Given the description of an element on the screen output the (x, y) to click on. 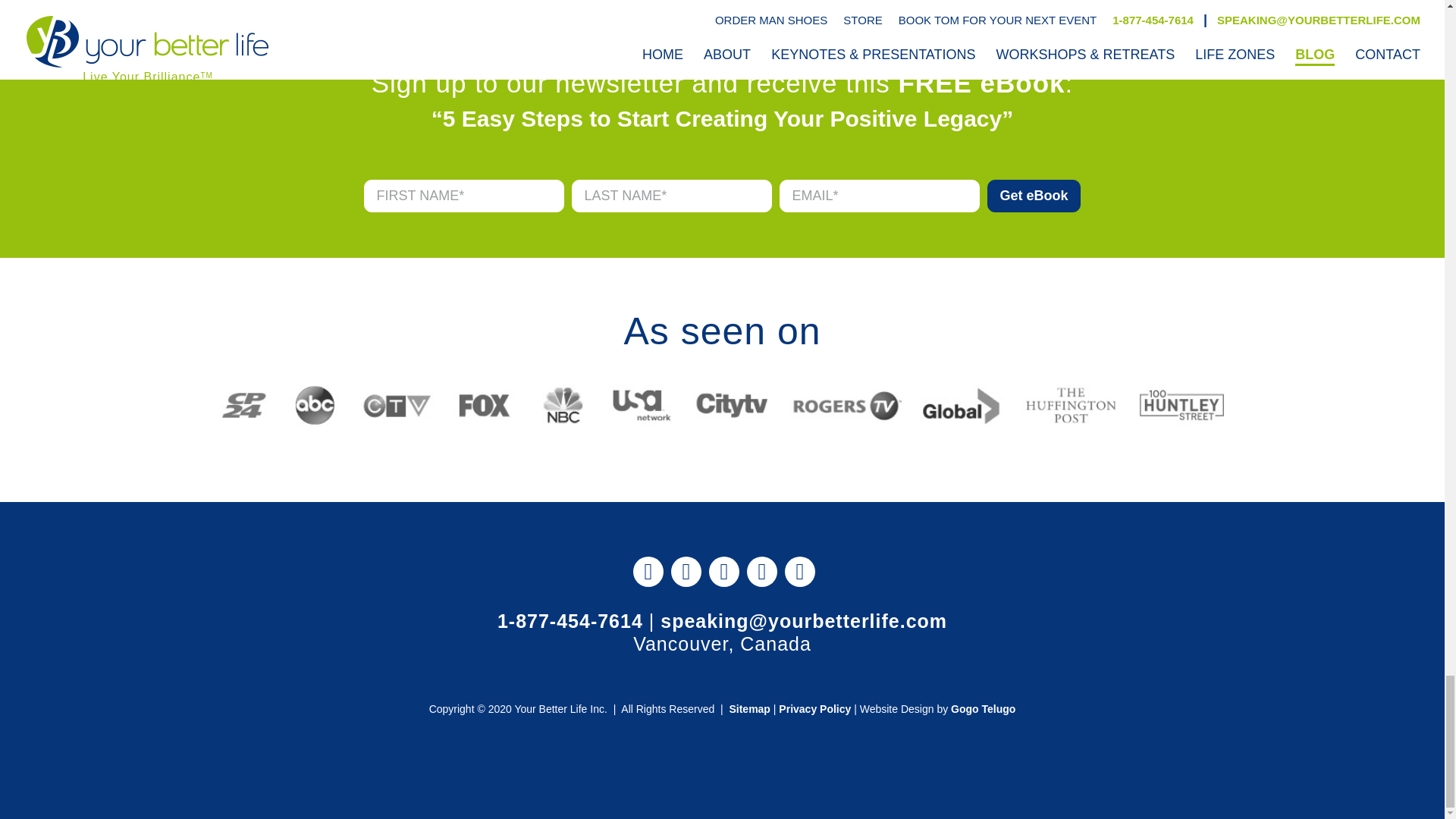
Get eBook (1033, 195)
